Given the description of an element on the screen output the (x, y) to click on. 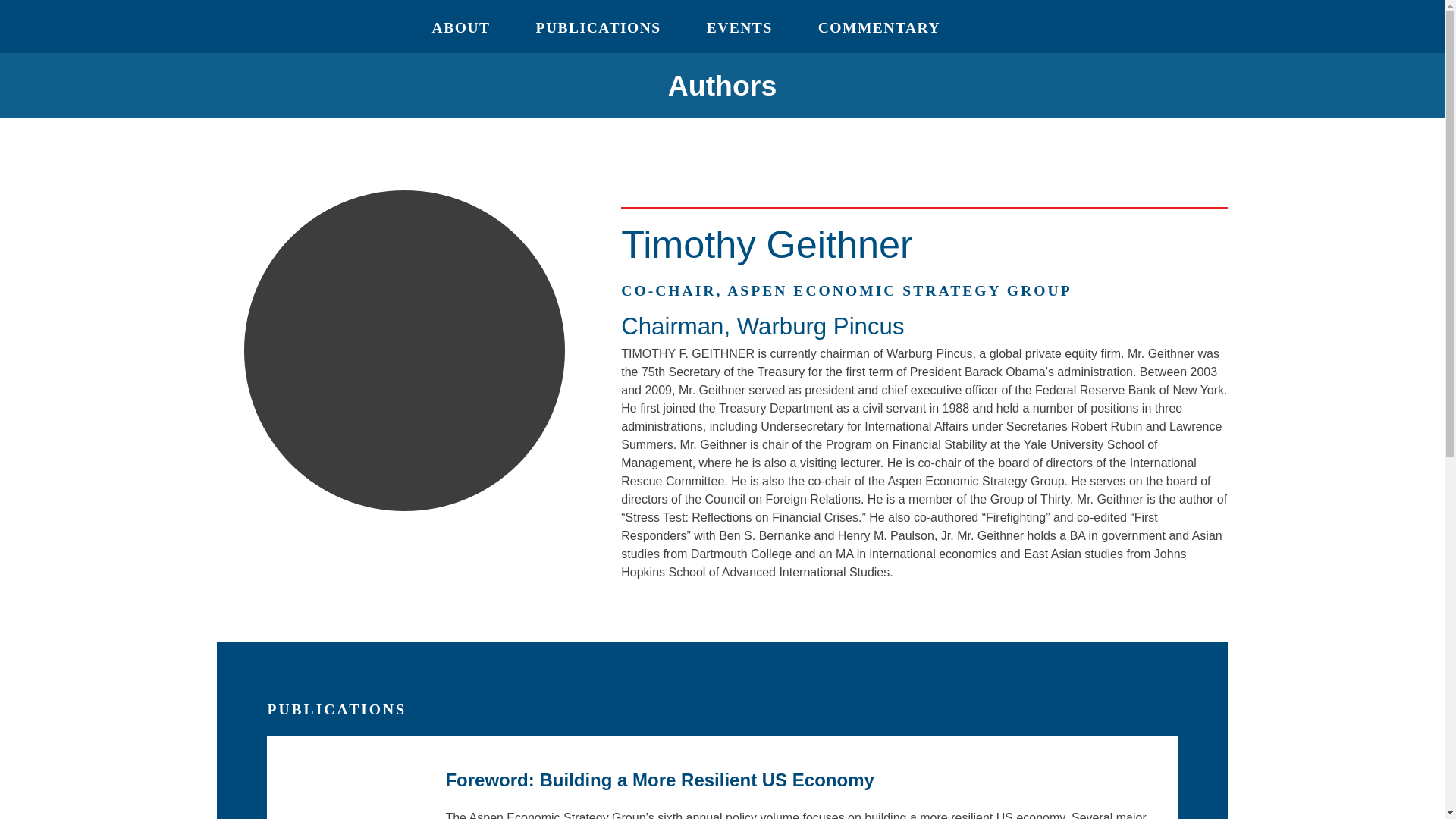
Foreword: Building a More Resilient US Economy (659, 779)
ABOUT (461, 27)
EVENTS (739, 27)
PUBLICATIONS (598, 27)
Home (188, 26)
COMMENTARY (878, 27)
